Given the description of an element on the screen output the (x, y) to click on. 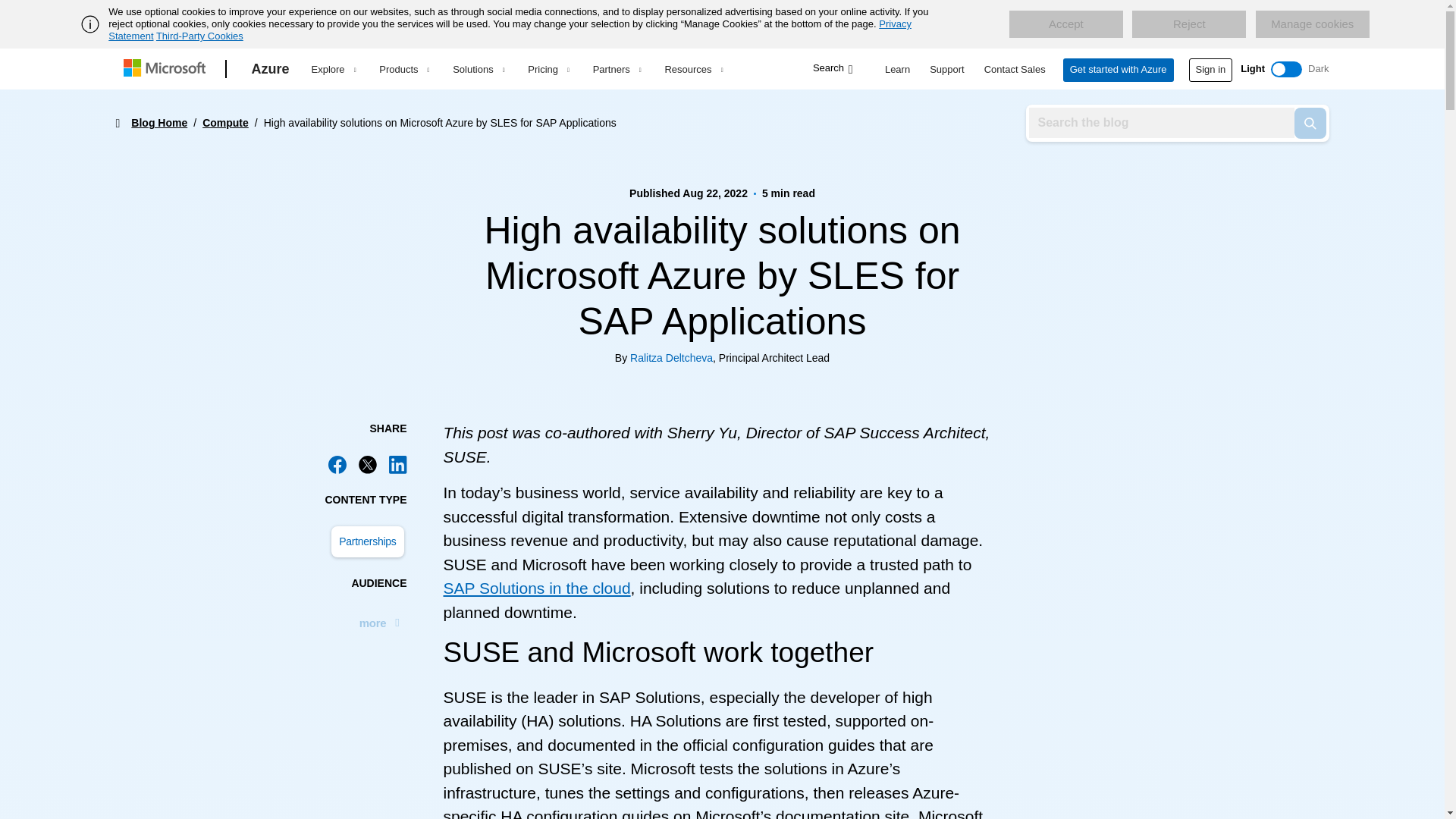
Accept (1065, 23)
Privacy Statement (509, 29)
Azure (270, 69)
Reject (1189, 23)
Products (403, 69)
Third-Party Cookies (199, 35)
Explore (333, 69)
Manage cookies (1312, 23)
Microsoft (167, 69)
